Given the description of an element on the screen output the (x, y) to click on. 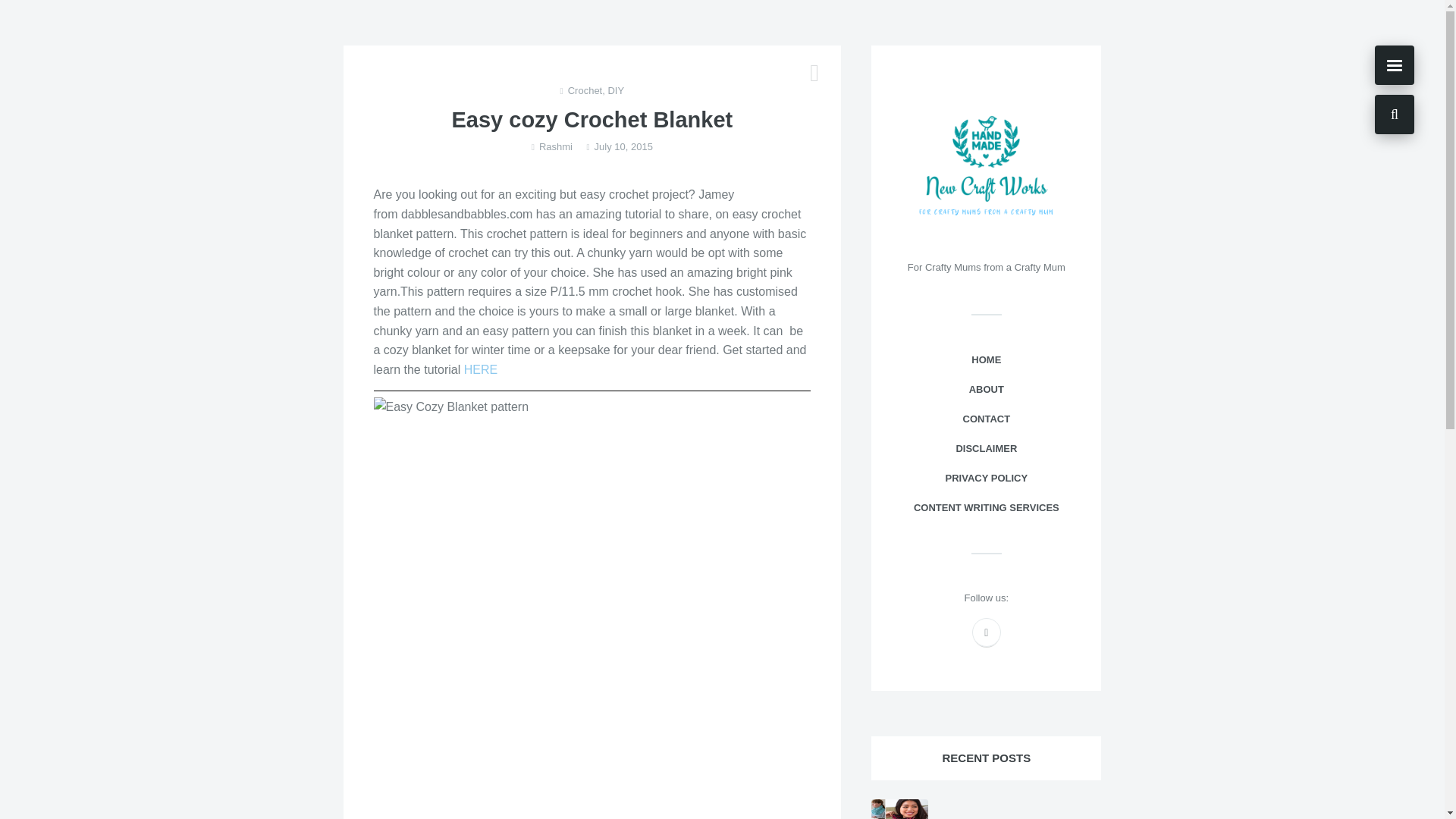
DISCLAIMER (985, 449)
HOME (985, 360)
Posts by Rashmi (555, 147)
Rashmi (555, 147)
CONTENT WRITING SERVICES (985, 508)
HERE (480, 369)
ABOUT (985, 389)
PRIVACY POLICY (985, 478)
July 10, 2015 (623, 147)
Crochet (584, 91)
